Given the description of an element on the screen output the (x, y) to click on. 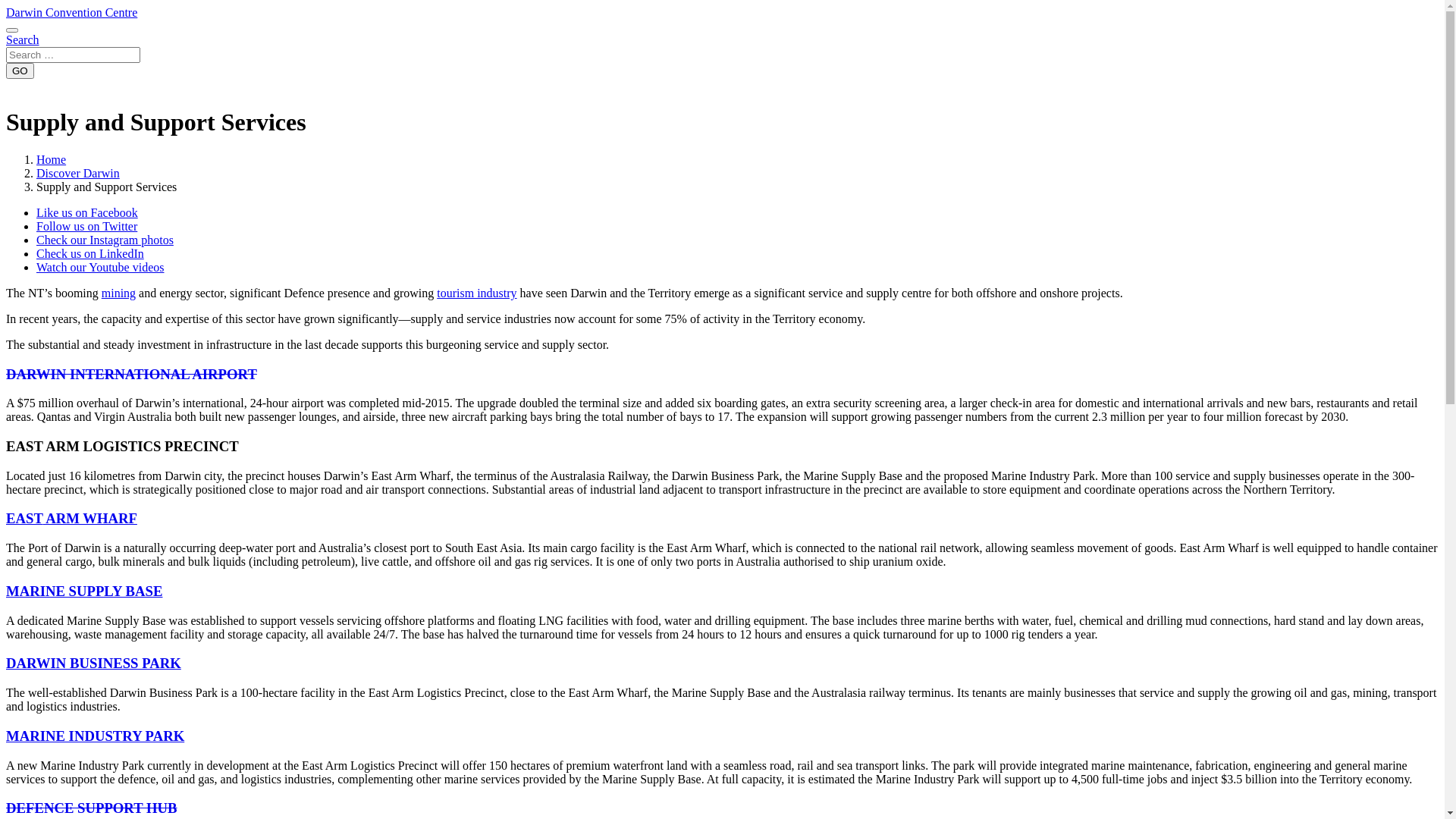
Darwin Convention Centre Element type: text (71, 12)
GO Element type: text (20, 70)
Home Element type: text (50, 159)
Like us on Facebook Element type: text (87, 212)
mining Element type: text (118, 292)
EAST Element type: text (24, 518)
DARWIN INTERNATIONAL AIRPORT Element type: text (131, 374)
ARM WHARF Element type: text (90, 518)
MARINE INDUSTRY PARK Element type: text (95, 735)
Follow us on Twitter Element type: text (86, 225)
MARINE SUPPLY BASE Element type: text (84, 591)
DEFENCE SUPPORT HUB Element type: text (91, 807)
Discover Darwin Element type: text (77, 172)
tourism industry Element type: text (476, 292)
DARWIN BUSINESS PARK Element type: text (93, 663)
Check us on LinkedIn Element type: text (90, 253)
Search Element type: text (22, 39)
Check our Instagram photos Element type: text (104, 239)
Watch our Youtube videos Element type: text (99, 266)
